Given the description of an element on the screen output the (x, y) to click on. 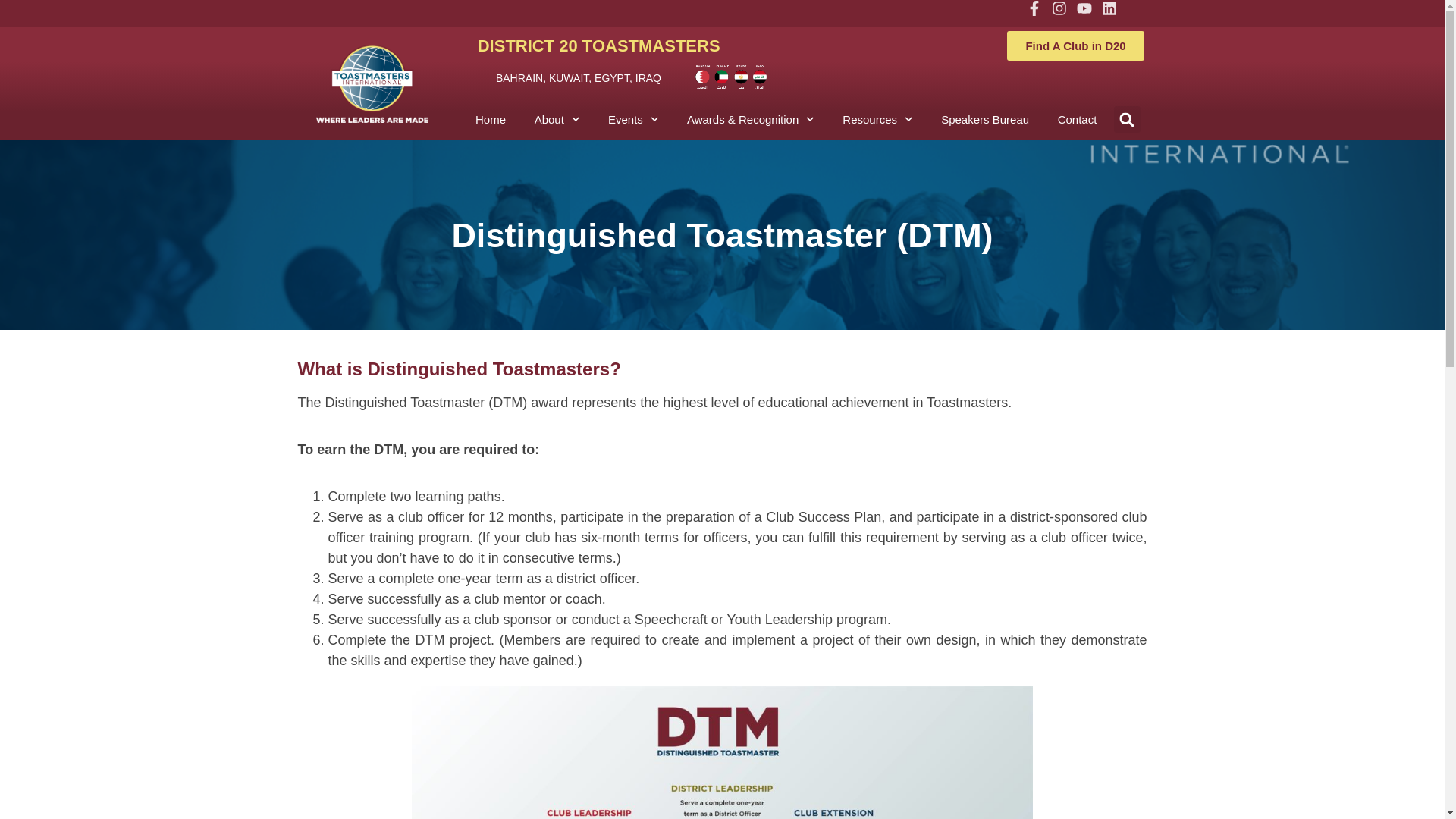
Resources (877, 119)
Find A Club in D20 (1074, 45)
About (556, 119)
Events (633, 119)
Home (491, 119)
